Given the description of an element on the screen output the (x, y) to click on. 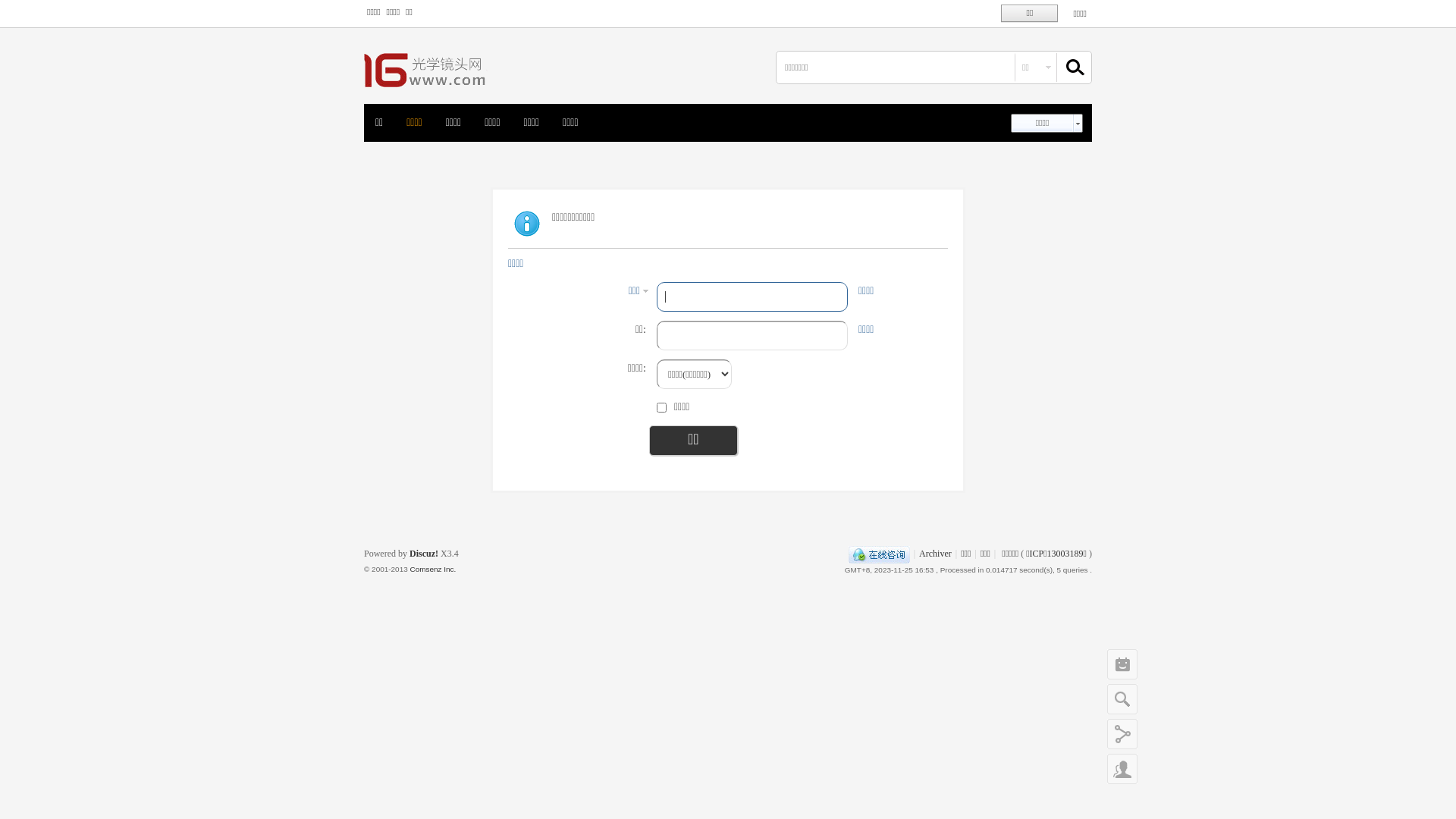
true Element type: text (1066, 67)
Comsenz Inc. Element type: text (432, 568)
Discuz! Element type: text (423, 553)
Archiver Element type: text (935, 553)
QQ Element type: hover (879, 553)
